Given the description of an element on the screen output the (x, y) to click on. 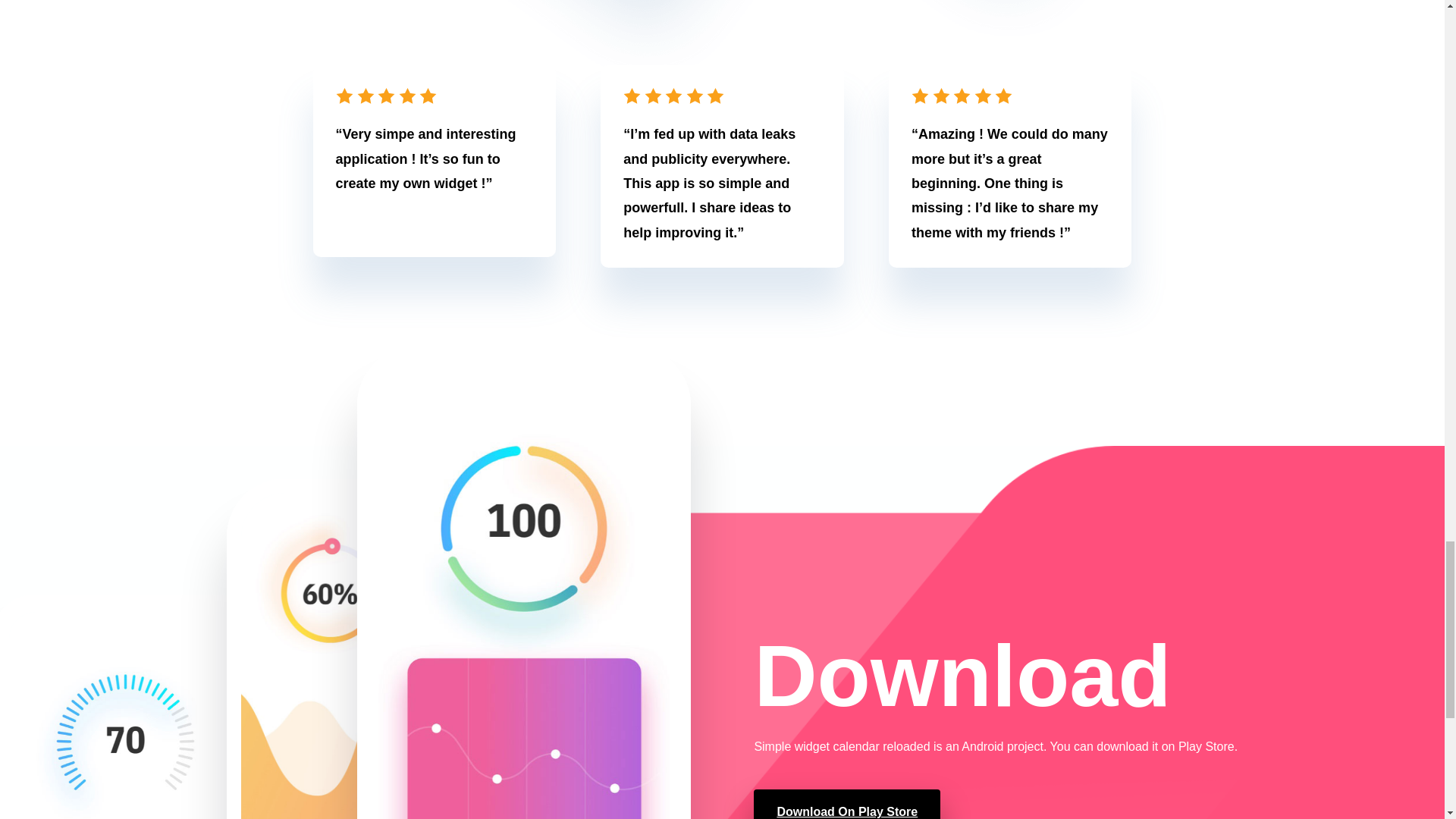
Download On Play Store (847, 804)
